Given the description of an element on the screen output the (x, y) to click on. 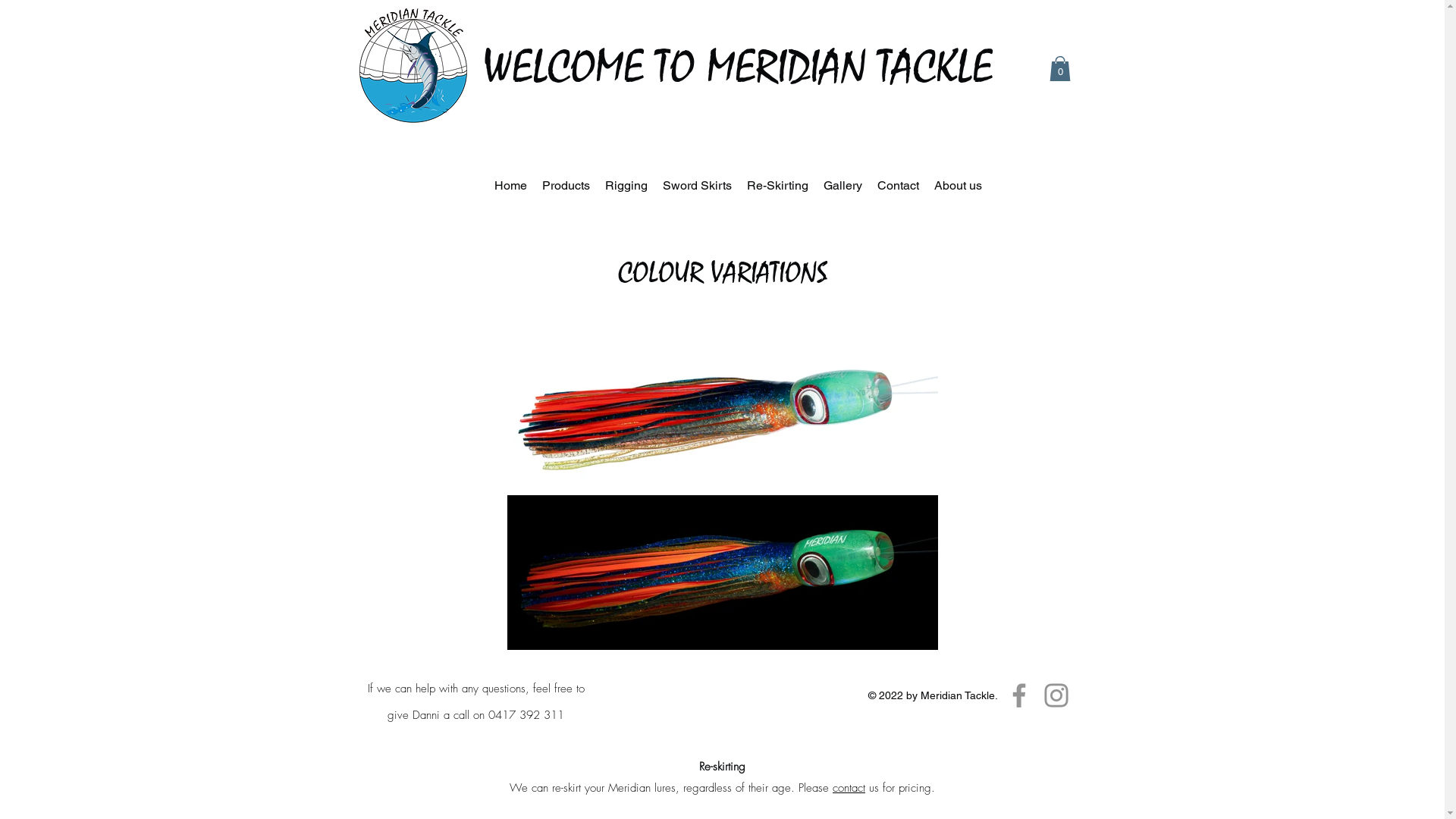
Home Element type: text (510, 185)
Gallery Element type: text (842, 185)
Sword Skirts Element type: text (697, 185)
Products Element type: text (564, 185)
Re-Skirting Element type: text (776, 185)
About us Element type: text (957, 185)
Rigging Element type: text (626, 185)
Contact Element type: text (897, 185)
contact Element type: text (848, 787)
0 Element type: text (1059, 68)
